Given the description of an element on the screen output the (x, y) to click on. 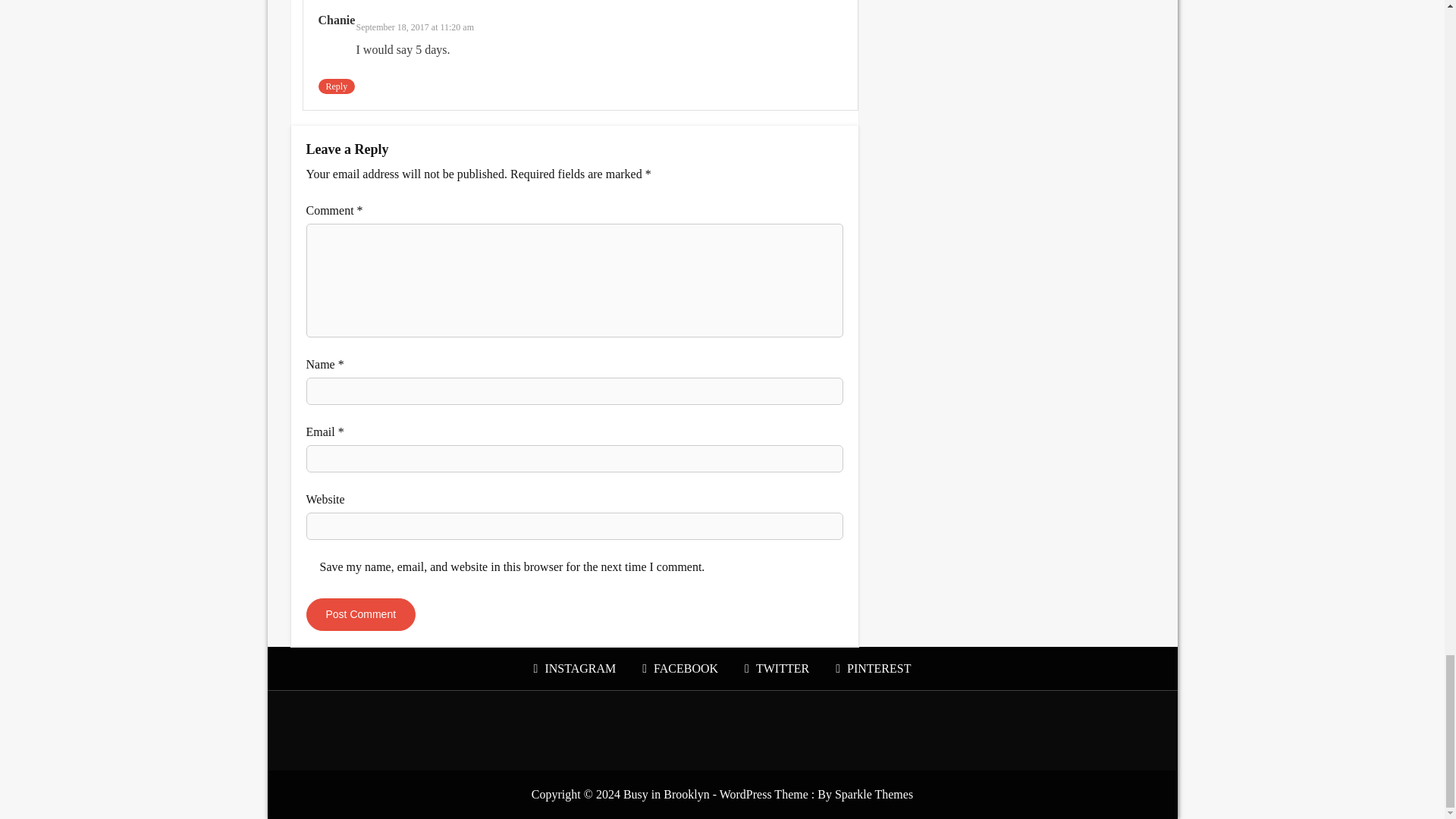
Post Comment (360, 614)
